Given the description of an element on the screen output the (x, y) to click on. 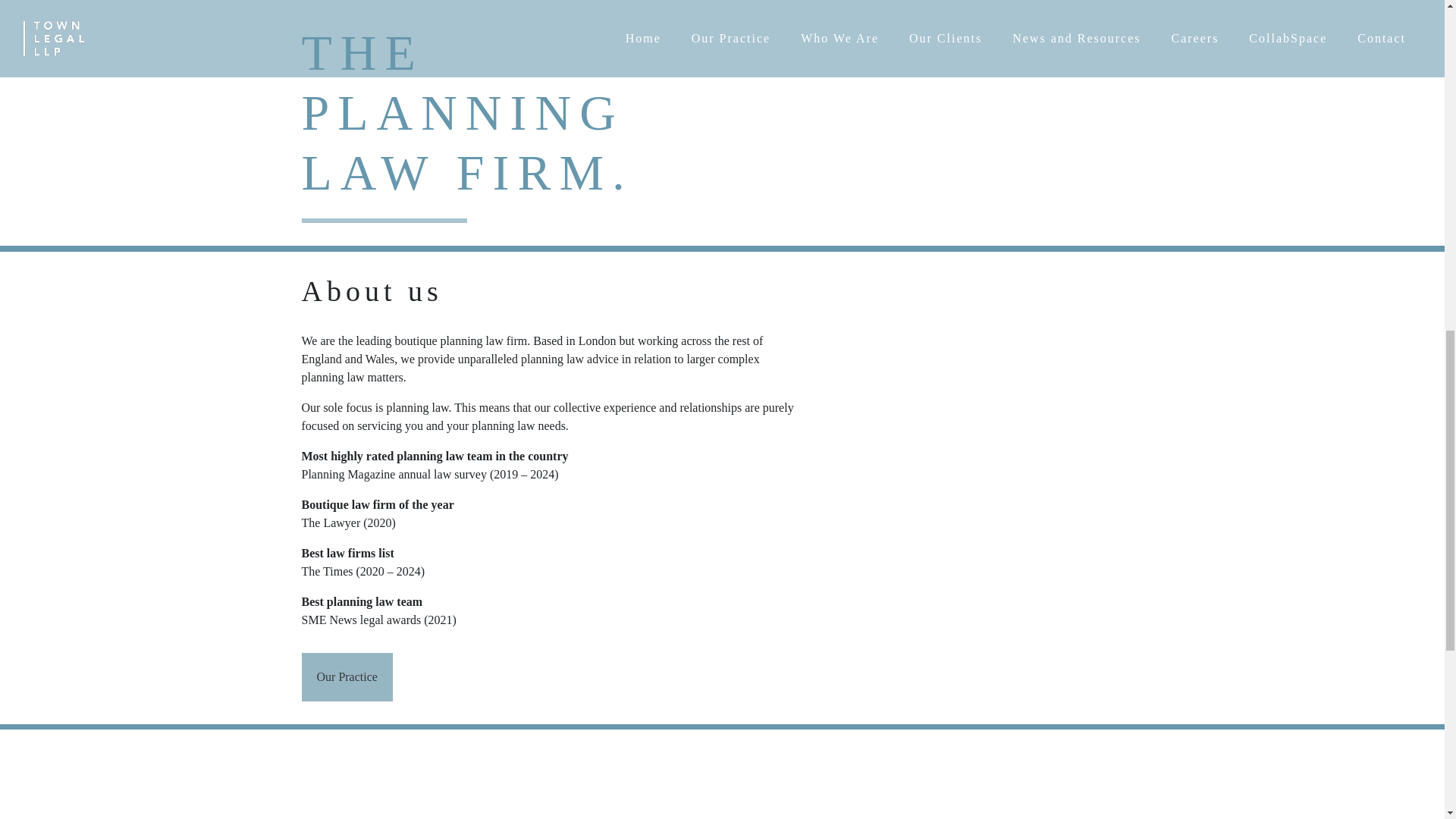
Our Practice (347, 676)
